Given the description of an element on the screen output the (x, y) to click on. 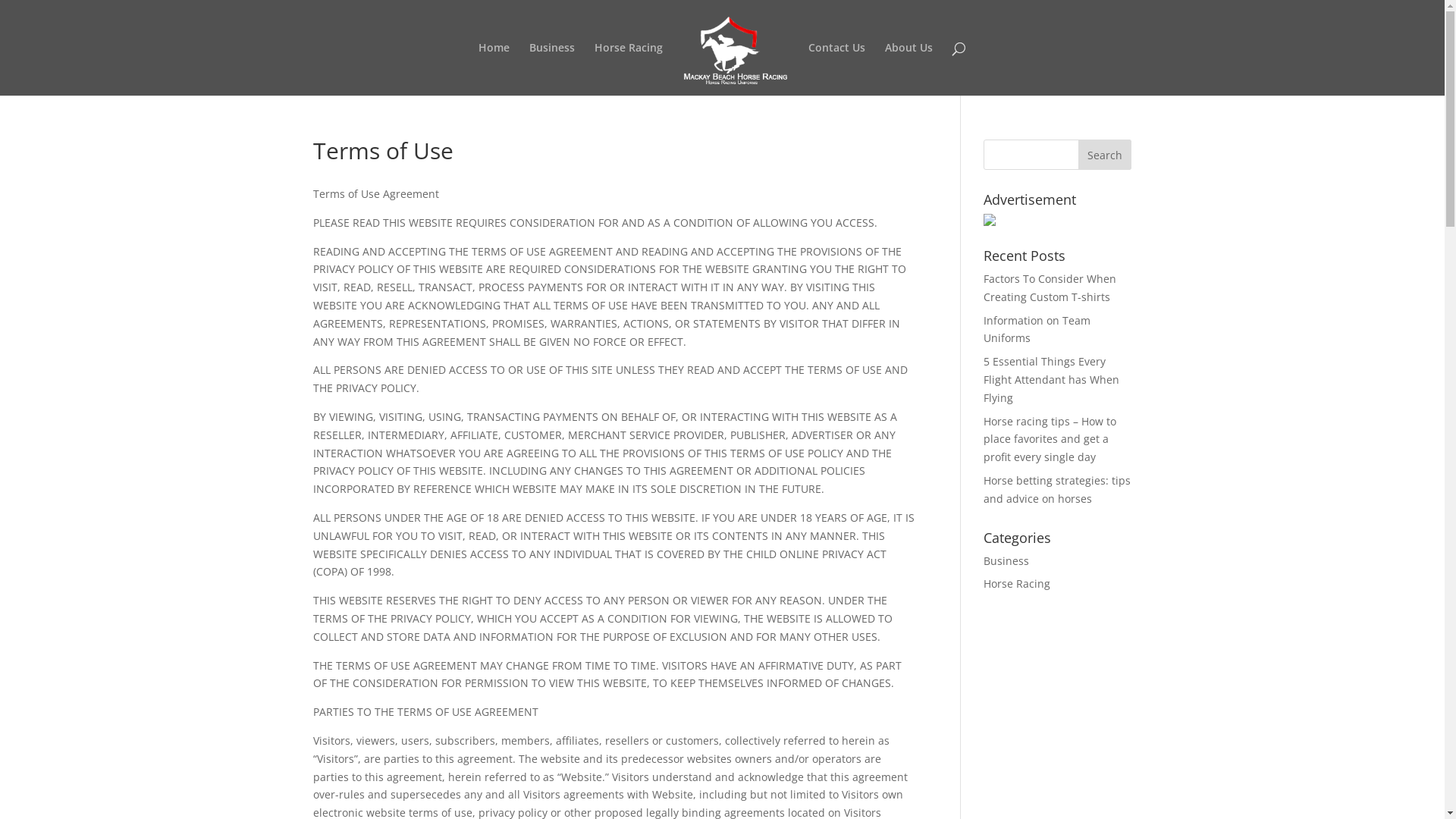
Information on Team Uniforms Element type: text (1036, 329)
Business Element type: text (551, 68)
Contact Us Element type: text (836, 68)
Horse betting strategies: tips and advice on horses Element type: text (1056, 489)
Horse Racing Element type: text (1016, 583)
5 Essential Things Every Flight Attendant has When Flying Element type: text (1051, 379)
Search Element type: text (1104, 154)
Home Element type: text (493, 68)
Horse Racing Element type: text (628, 68)
Factors To Consider When Creating Custom T-shirts Element type: text (1049, 287)
About Us Element type: text (908, 68)
Business Element type: text (1006, 560)
